Given the description of an element on the screen output the (x, y) to click on. 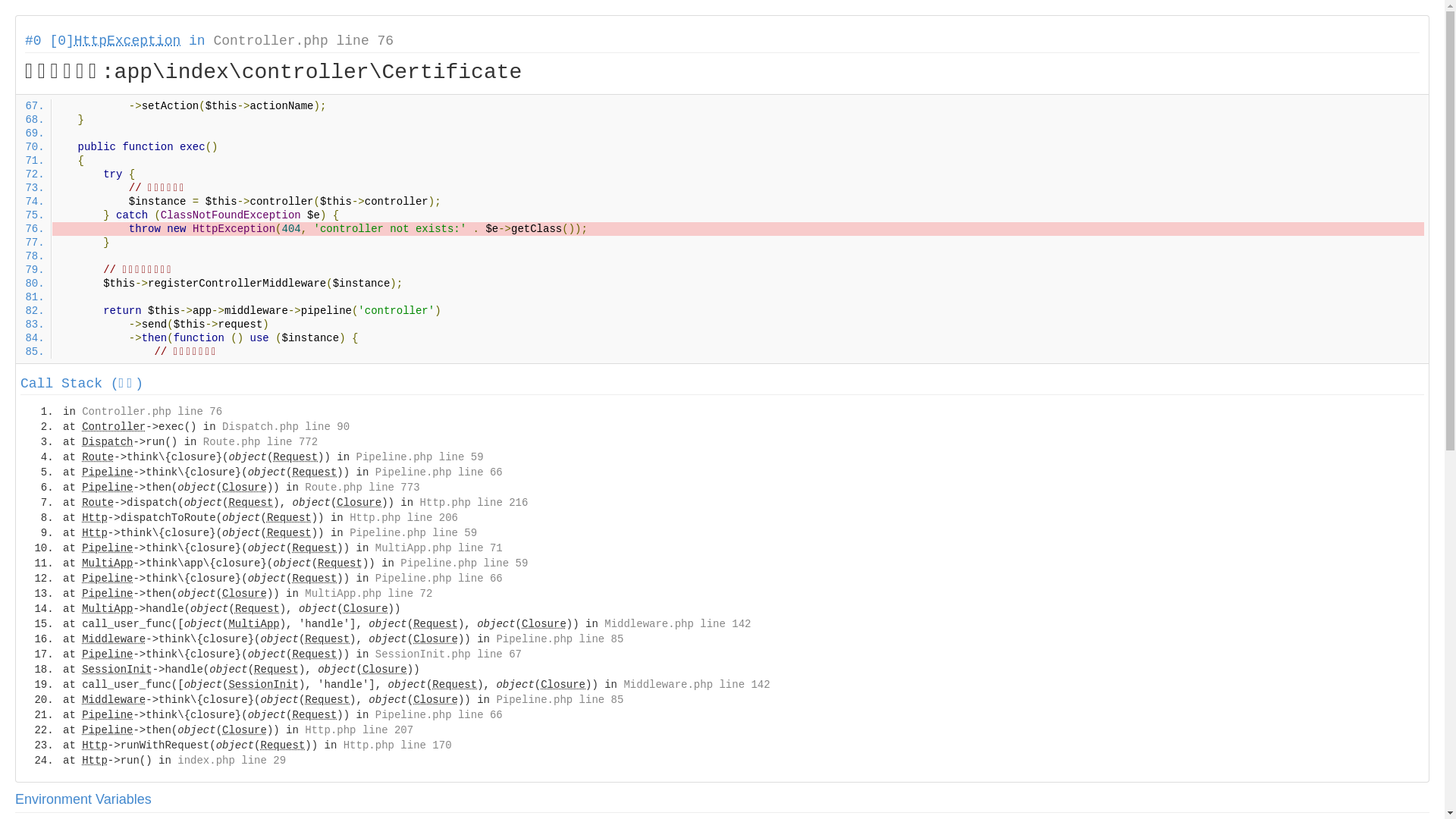
Http.php line 216 Element type: text (474, 502)
SessionInit.php line 67 Element type: text (448, 654)
Dispatch.php line 90 Element type: text (285, 426)
Middleware.php line 142 Element type: text (696, 684)
Http.php line 206 Element type: text (403, 517)
Middleware.php line 142 Element type: text (677, 624)
index.php line 29 Element type: text (231, 760)
Pipeline.php line 59 Element type: text (419, 457)
Pipeline.php line 66 Element type: text (438, 472)
Route.php line 773 Element type: text (361, 487)
Pipeline.php line 59 Element type: text (412, 533)
Route.php line 772 Element type: text (260, 442)
MultiApp.php line 72 Element type: text (368, 593)
Pipeline.php line 66 Element type: text (438, 578)
Pipeline.php line 66 Element type: text (438, 715)
Controller.php line 76 Element type: text (151, 411)
MultiApp.php line 71 Element type: text (438, 548)
Pipeline.php line 59 Element type: text (463, 563)
Pipeline.php line 85 Element type: text (559, 639)
Controller.php line 76 Element type: text (303, 40)
Pipeline.php line 85 Element type: text (559, 699)
Http.php line 170 Element type: text (397, 745)
Http.php line 207 Element type: text (358, 730)
